Given the description of an element on the screen output the (x, y) to click on. 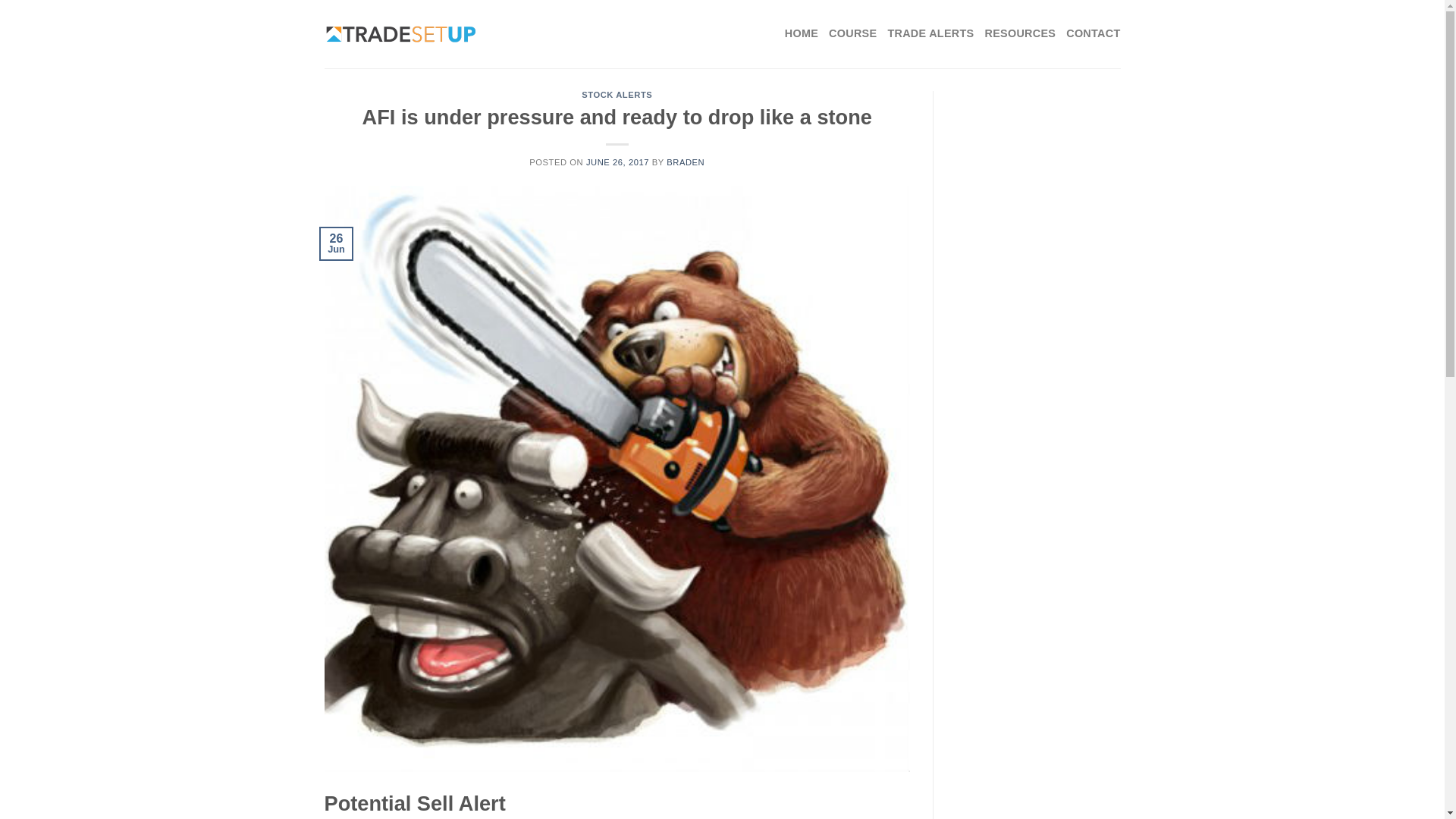
STOCK ALERTS (616, 94)
BRADEN (685, 162)
CONTACT (1092, 33)
COURSE (852, 33)
TradeSetup - Australia's leading Trade Alert Service (400, 34)
TRADE ALERTS (930, 33)
RESOURCES (1019, 33)
JUNE 26, 2017 (617, 162)
HOME (801, 33)
